Given the description of an element on the screen output the (x, y) to click on. 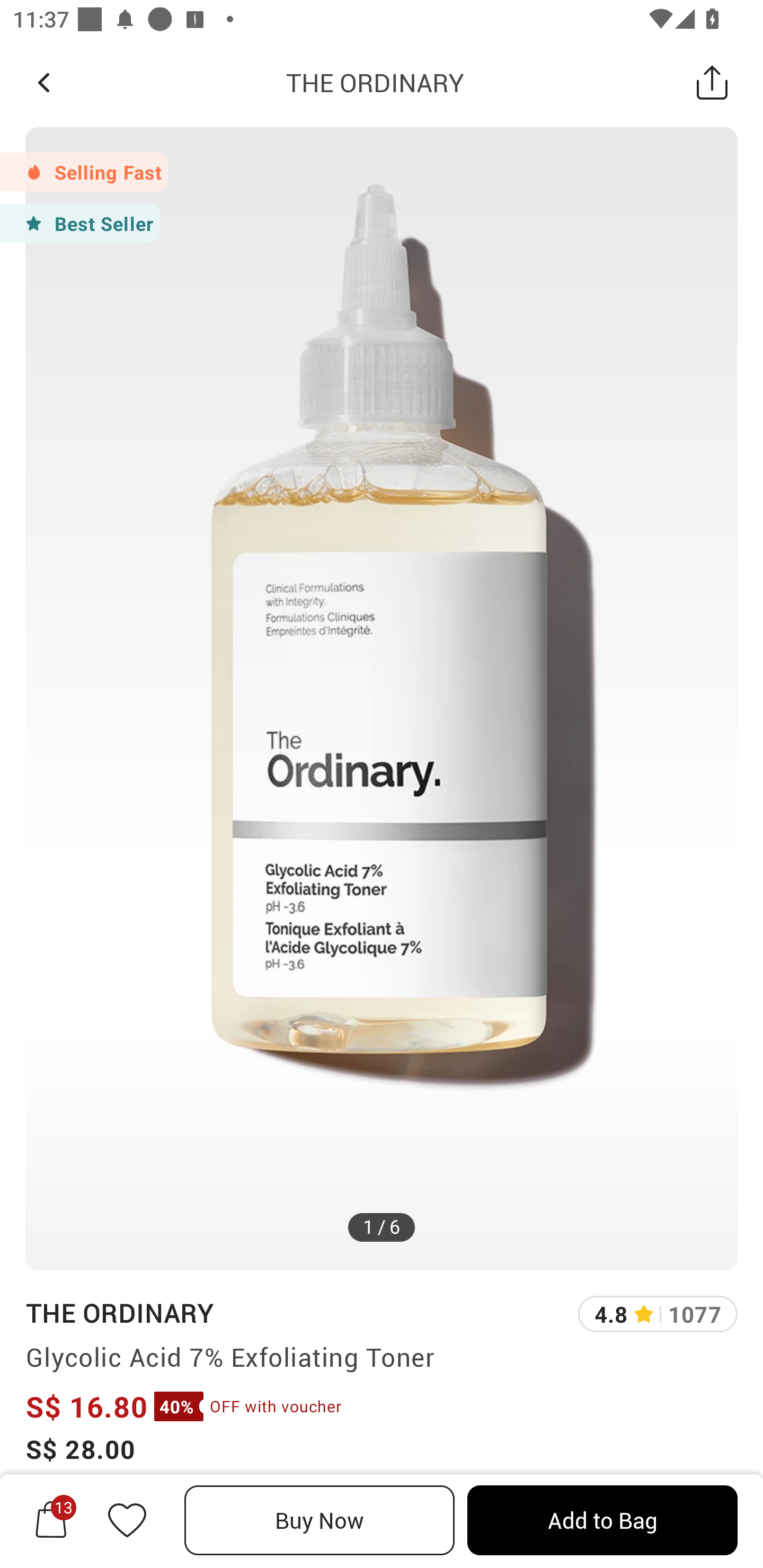
THE ORDINARY (375, 82)
Share this Product (711, 82)
THE ORDINARY (119, 1312)
4.8 1077 (657, 1313)
Buy Now (319, 1519)
Add to Bag (601, 1519)
13 (50, 1520)
